Given the description of an element on the screen output the (x, y) to click on. 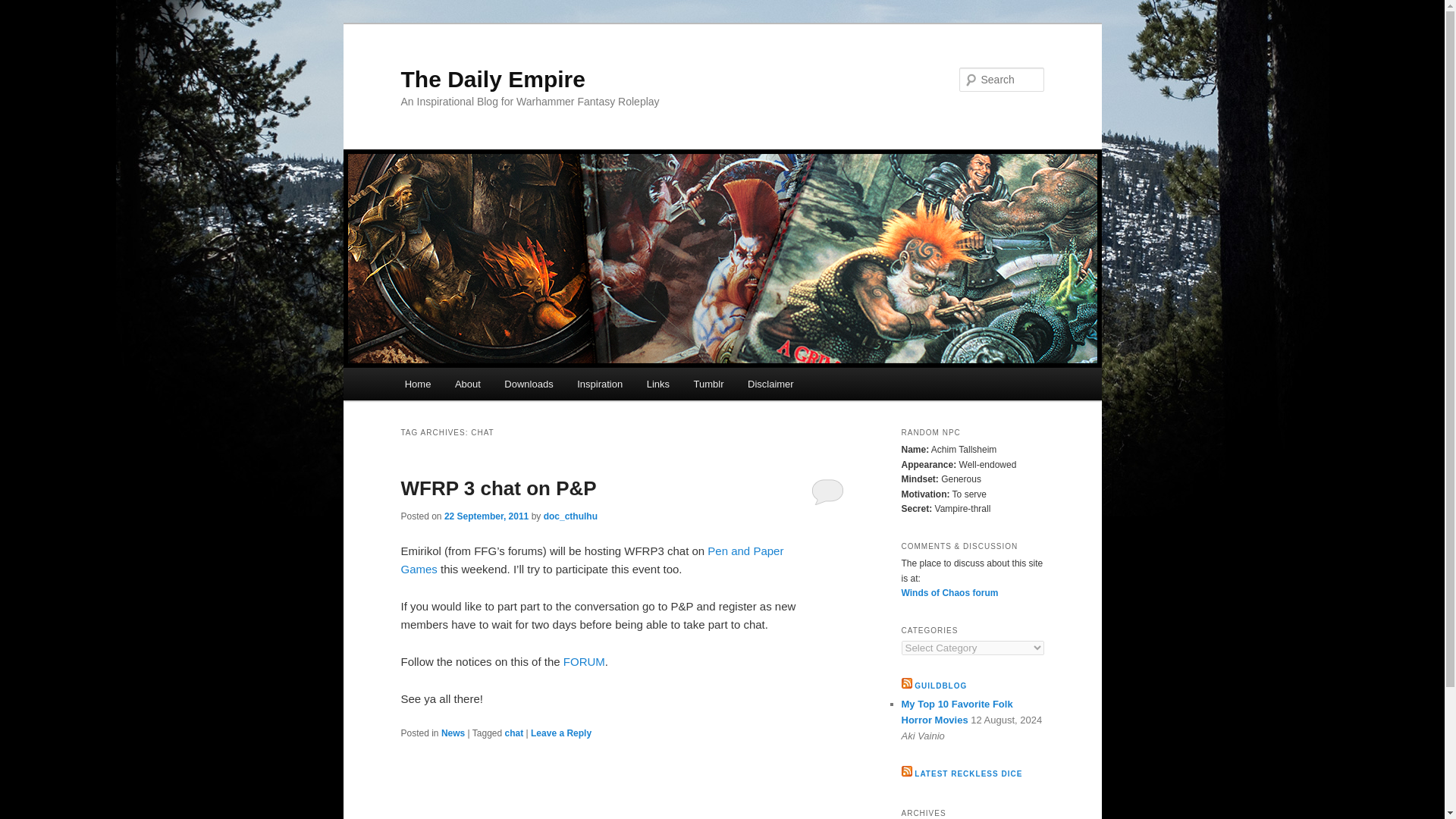
Links (657, 383)
Tumblr (708, 383)
About (467, 383)
22 September, 2011 (486, 516)
Inspiration (598, 383)
Home (417, 383)
Downloads (529, 383)
Disclaimer (770, 383)
The Daily Empire (492, 78)
